Given the description of an element on the screen output the (x, y) to click on. 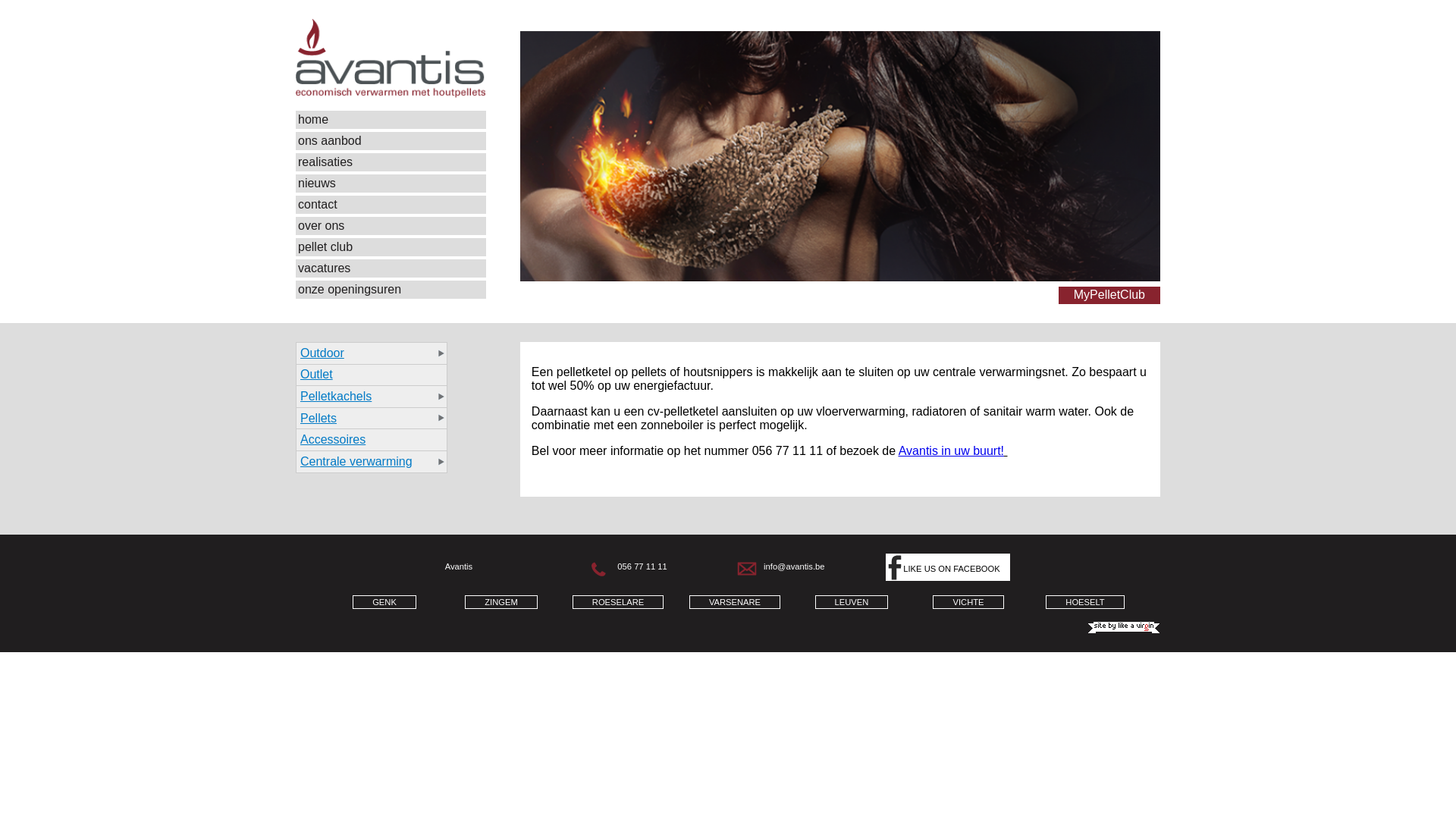
Avantis Element type: hover (390, 93)
HOESELT Element type: text (1084, 601)
Outlet Element type: text (371, 374)
Avantis Element type: hover (390, 57)
home Element type: text (390, 119)
ons aanbod Element type: text (390, 140)
contact Element type: text (390, 204)
VARSENARE Element type: text (734, 601)
Accessoires Element type: text (371, 439)
Outdoor Element type: text (371, 353)
vacatures Element type: text (390, 268)
onze openingsuren Element type: text (390, 289)
nieuws Element type: text (390, 183)
Avantis in uw buurt! Element type: text (951, 450)
Centrale verwarming Element type: text (371, 461)
LEUVEN Element type: text (851, 601)
ROESELARE Element type: text (617, 601)
MyPelletClub Element type: text (1109, 295)
Pelletkachels Element type: text (371, 396)
VICHTE Element type: text (967, 601)
LIKE US ON FACEBOOK Element type: text (947, 567)
realisaties Element type: text (390, 162)
Pellets Element type: text (371, 418)
ZINGEM Element type: text (500, 601)
over ons Element type: text (390, 225)
info@avantis.be Element type: text (793, 566)
GENK Element type: text (384, 601)
pellet club Element type: text (390, 247)
